Given the description of an element on the screen output the (x, y) to click on. 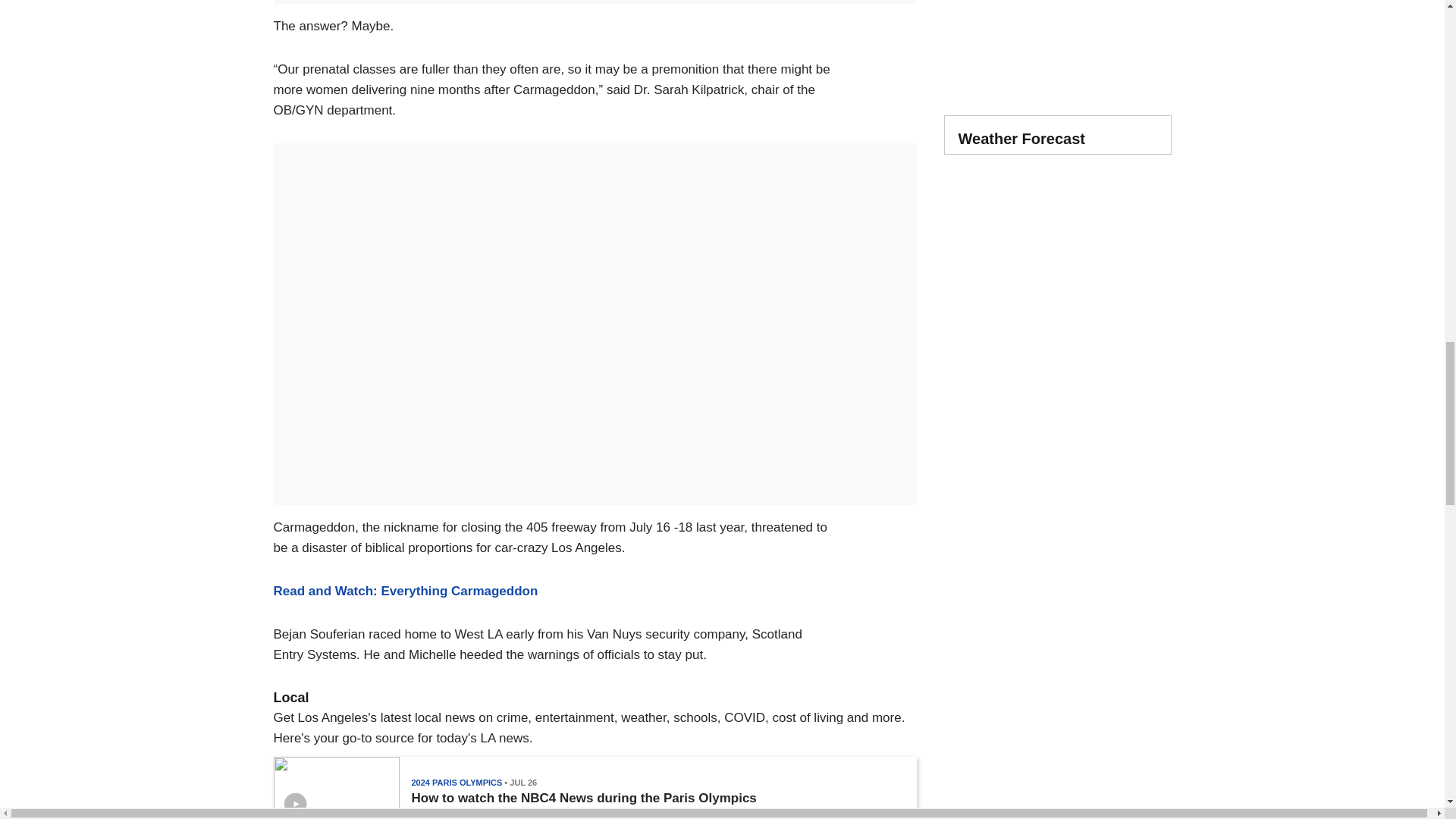
Read and Watch: Everything Carmageddon (405, 590)
How to watch the NBC4 News during the Paris Olympics (582, 798)
2024 PARIS OLYMPICS (456, 782)
